Given the description of an element on the screen output the (x, y) to click on. 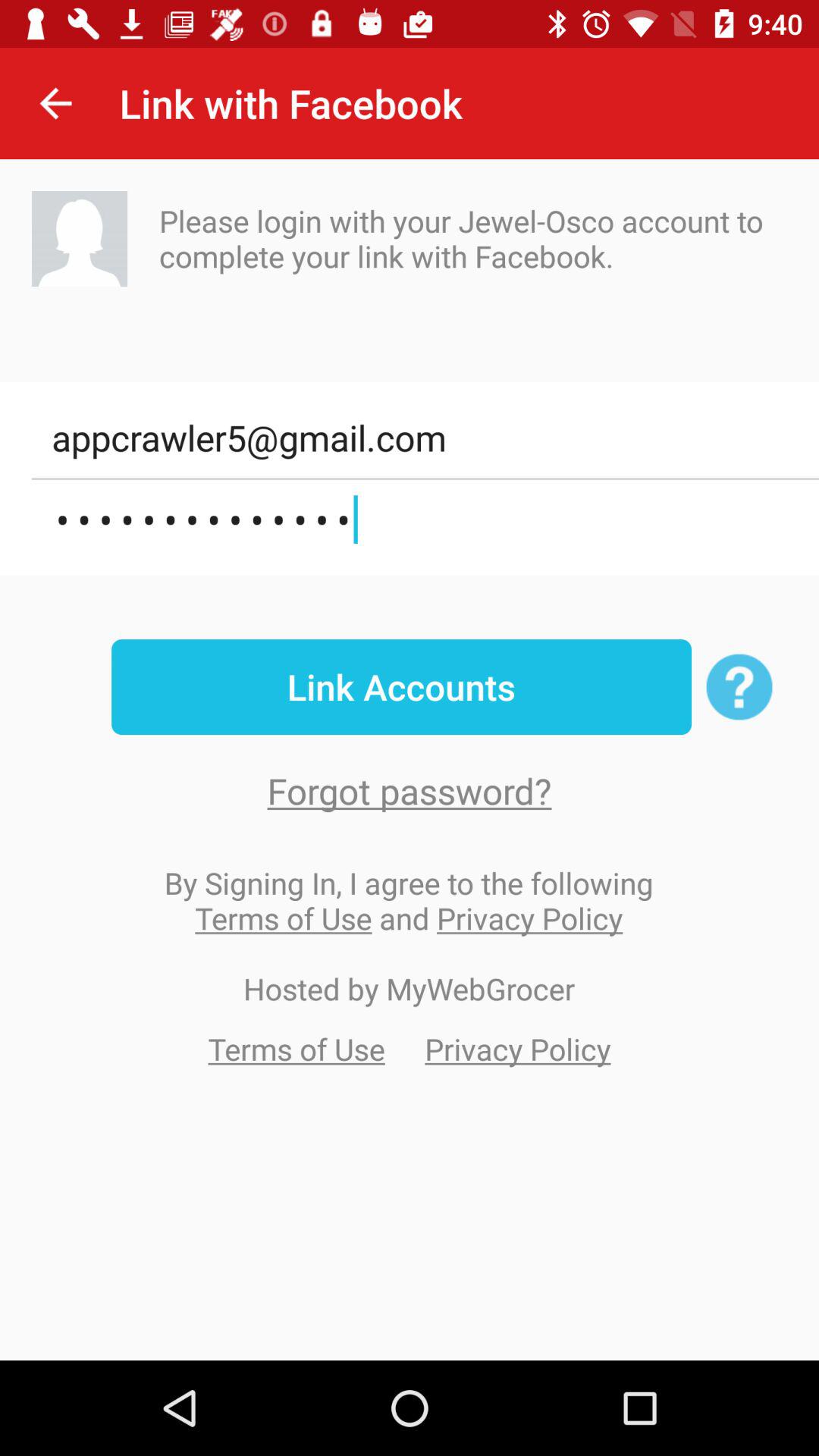
scroll until the by signing in item (408, 900)
